Given the description of an element on the screen output the (x, y) to click on. 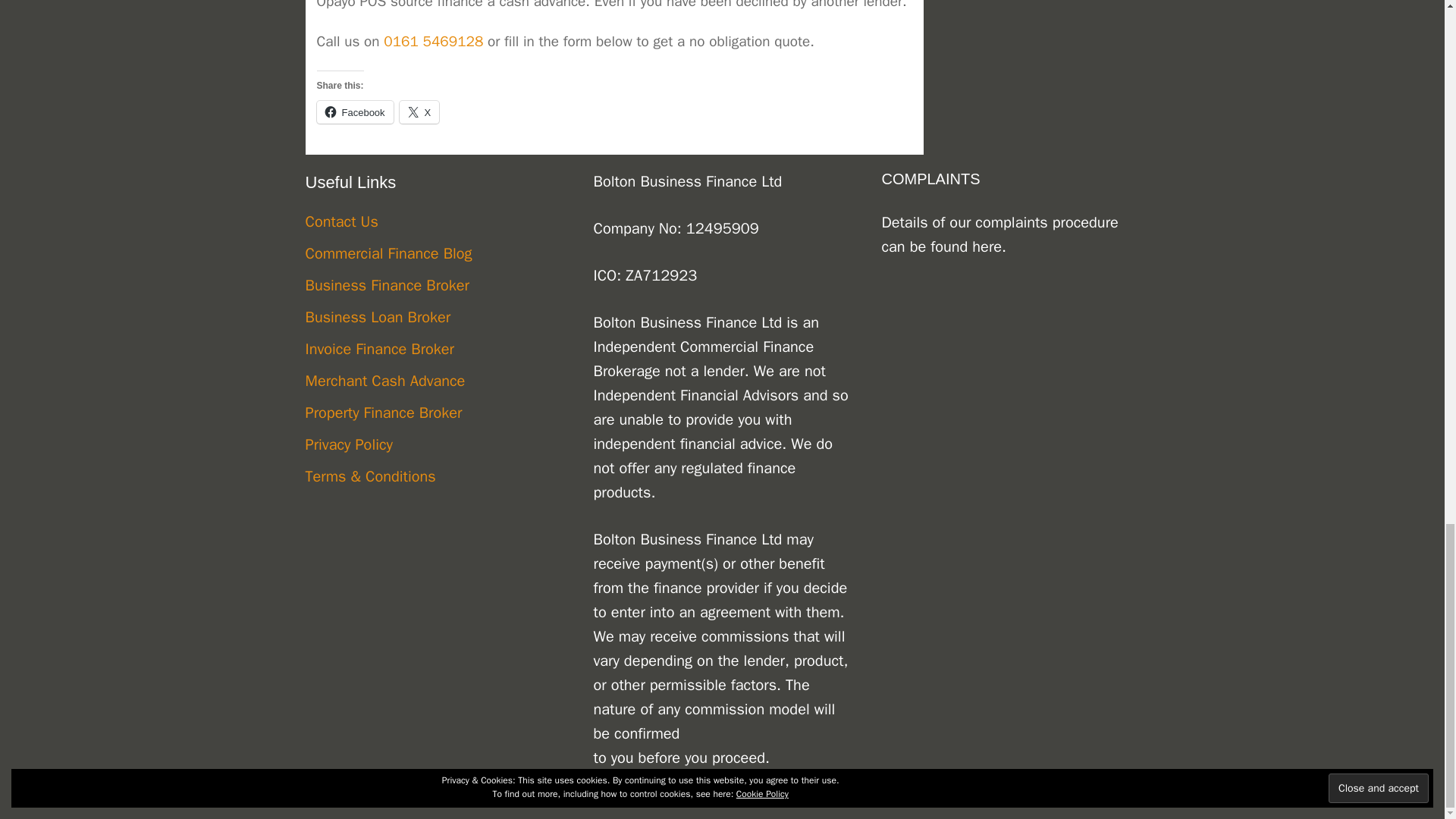
Scroll back to top (1406, 56)
Click to share on X (418, 111)
Click to share on Facebook (355, 111)
